Given the description of an element on the screen output the (x, y) to click on. 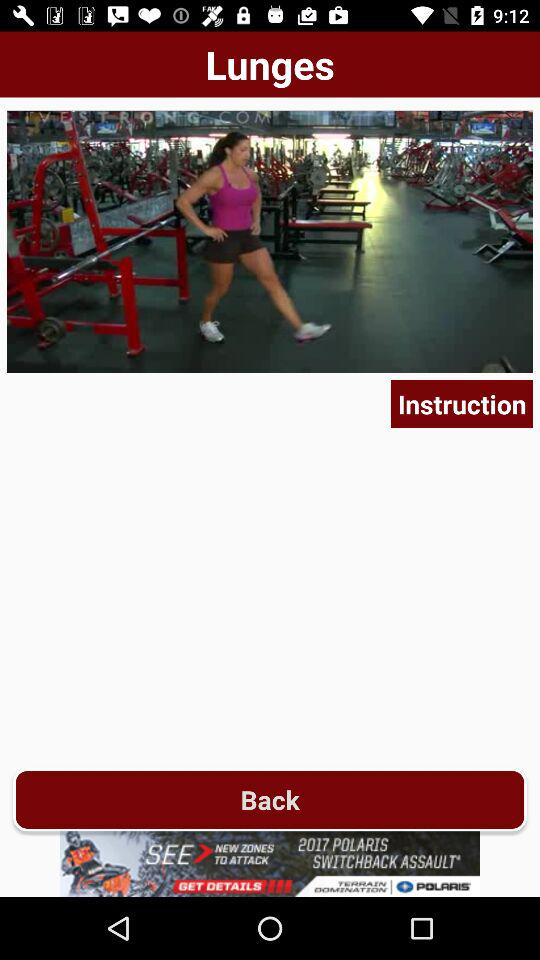
advertisement link (270, 864)
